Given the description of an element on the screen output the (x, y) to click on. 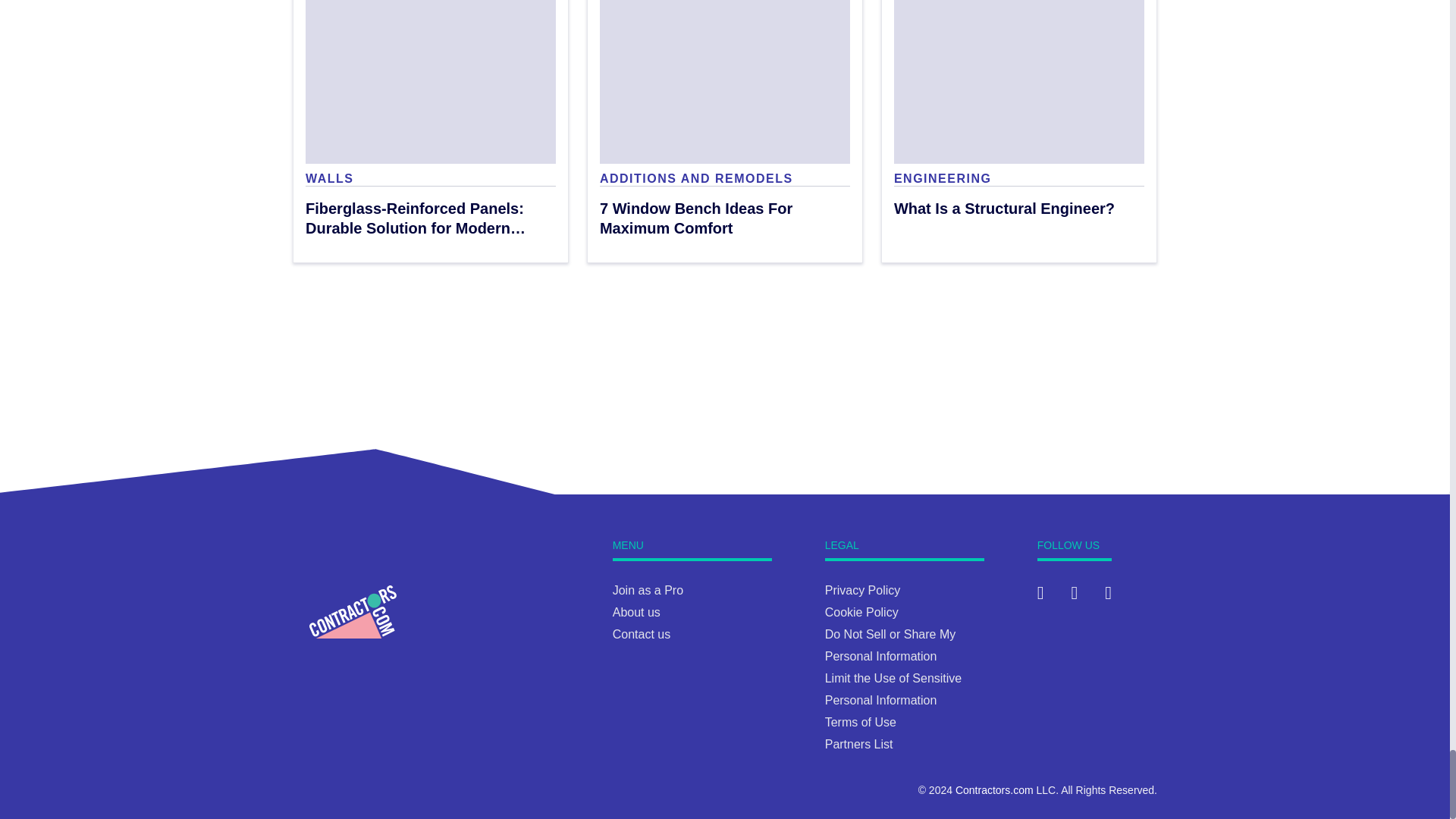
Limit the Use of Sensitive Personal Information (893, 688)
Partners List (859, 744)
About us (636, 612)
Join as a Pro (647, 590)
Do Not Sell or Share My Personal Information (1018, 108)
Privacy Policy (890, 645)
Contact us (863, 590)
